Given the description of an element on the screen output the (x, y) to click on. 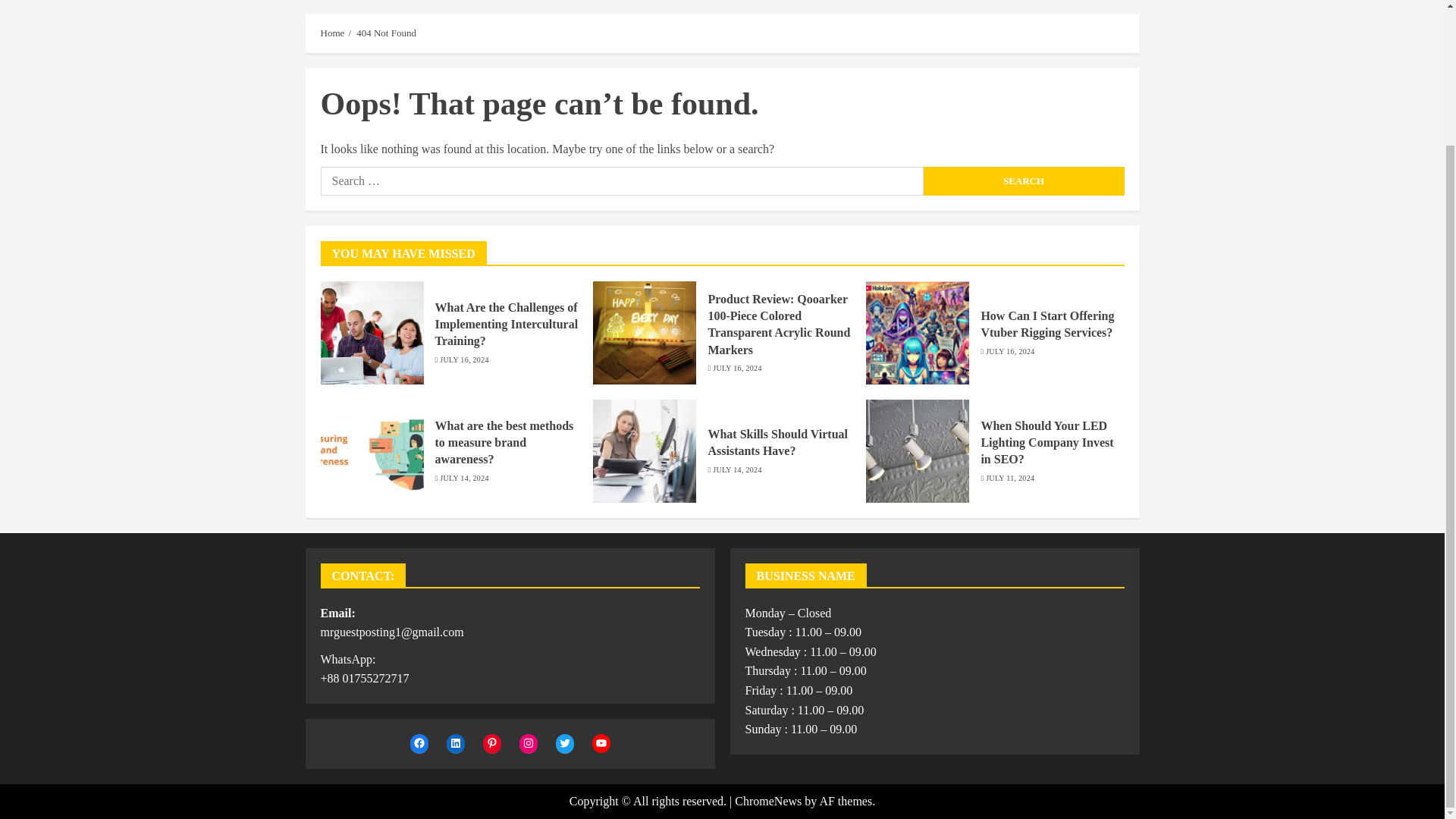
How Can I Start Offering Vtuber Rigging Services? (1046, 324)
Search (1023, 181)
Search (1023, 181)
Home (331, 33)
Search (1023, 181)
JULY 16, 2024 (737, 368)
When Should Your LED Lighting Company Invest in SEO? (1046, 442)
JULY 14, 2024 (737, 470)
JULY 11, 2024 (1009, 478)
Pinterest (490, 742)
Search (1099, 26)
Instagram (527, 742)
404 Not Found (386, 33)
JULY 16, 2024 (463, 359)
JULY 16, 2024 (1009, 351)
